Given the description of an element on the screen output the (x, y) to click on. 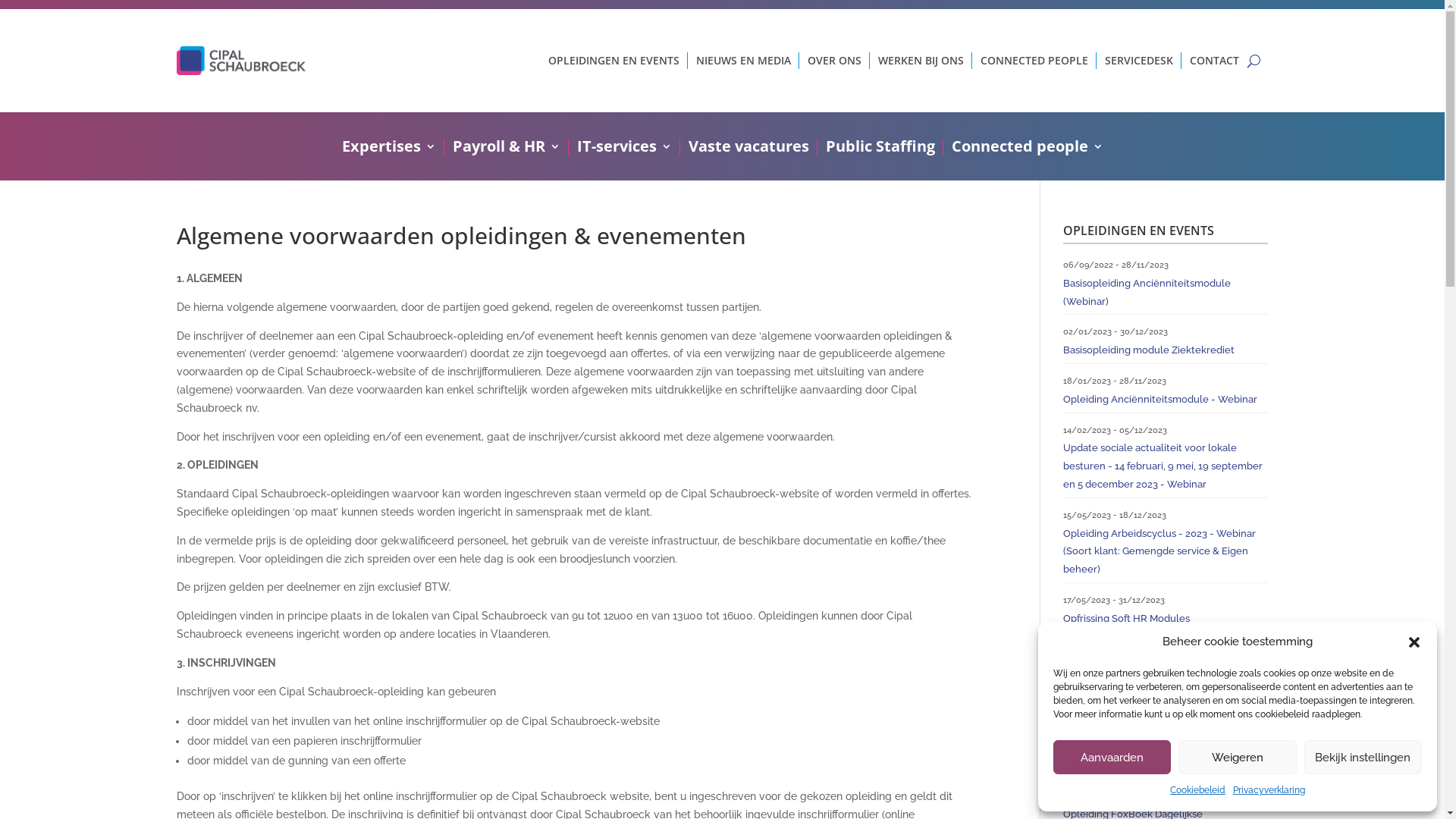
Payroll & HR Element type: text (505, 149)
Basisopleiding module Ziektekrediet Element type: text (1148, 349)
NIEUWS EN MEDIA Element type: text (743, 60)
Privacyverklaring Element type: text (1269, 790)
CONTACT Element type: text (1213, 60)
IT-services Element type: text (623, 149)
Vaste vacatures Element type: text (748, 149)
CONNECTED PEOPLE Element type: text (1033, 60)
OVER ONS Element type: text (833, 60)
Cookiebeleid Element type: text (1197, 790)
Bekijk instellingen Element type: text (1362, 757)
Griepinenting 2023 (personeel) Element type: text (1135, 715)
Expertises Element type: text (388, 149)
Basisopleiding WQM Element type: text (1111, 666)
WERKEN BIJ ONS Element type: text (920, 60)
OPLEIDINGEN EN EVENTS Element type: text (612, 60)
Opfrissing Soft HR Modules Element type: text (1126, 618)
Aanvaarden Element type: text (1111, 757)
Interne opleiding Publieke Sector Element type: text (1141, 765)
Weigeren Element type: text (1236, 757)
Connected people Element type: text (1026, 149)
Public Staffing Element type: text (879, 149)
SERVICEDESK Element type: text (1138, 60)
